Given the description of an element on the screen output the (x, y) to click on. 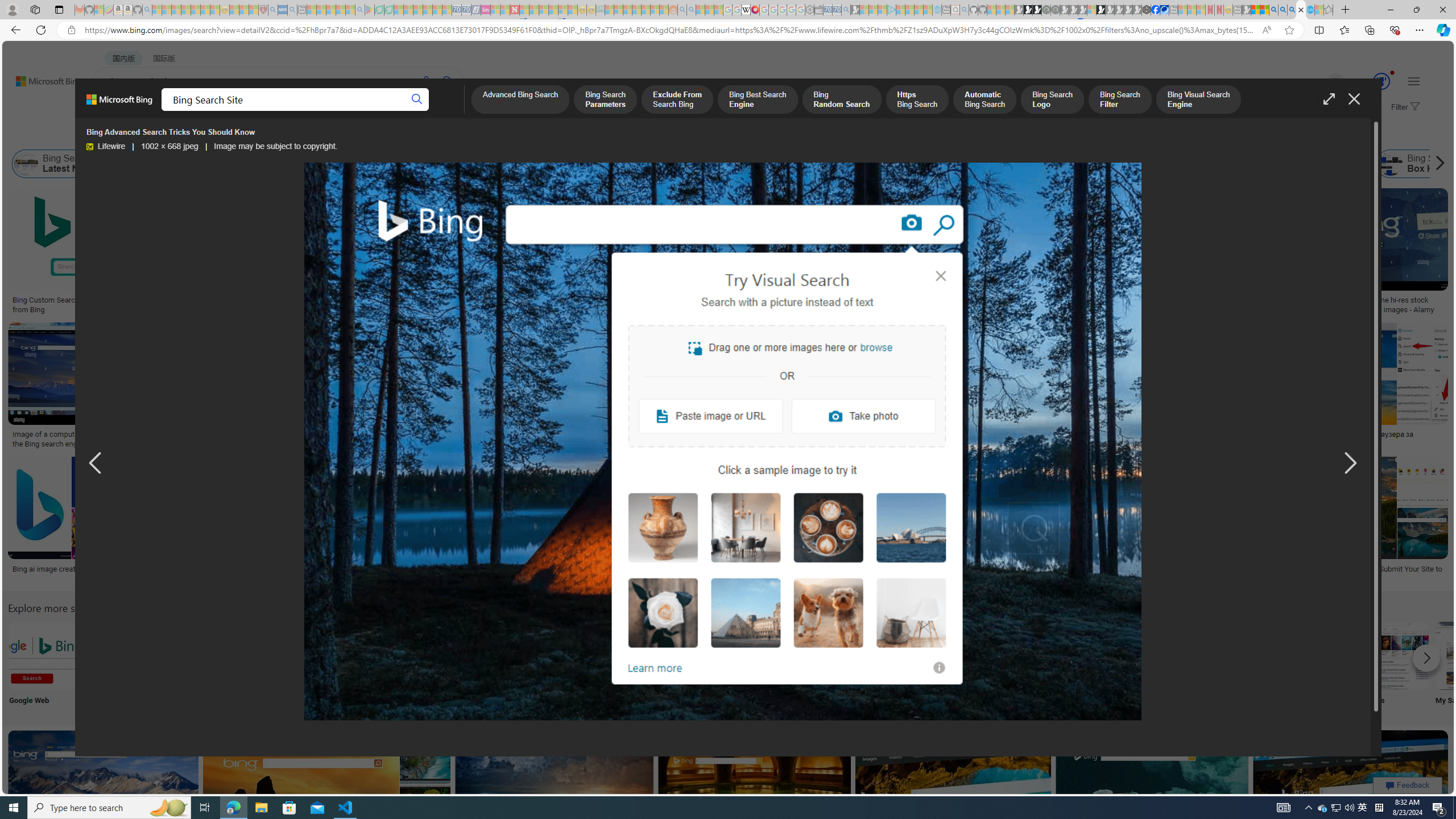
Future Focus Report 2024 - Sleeping (1054, 9)
Nordace | Facebook (1154, 9)
Close image (1352, 99)
App Icon (418, 665)
Bing the Search Engine (868, 654)
Bing People Search (568, 654)
Color (173, 135)
Bing Web (1229, 163)
